Given the description of an element on the screen output the (x, y) to click on. 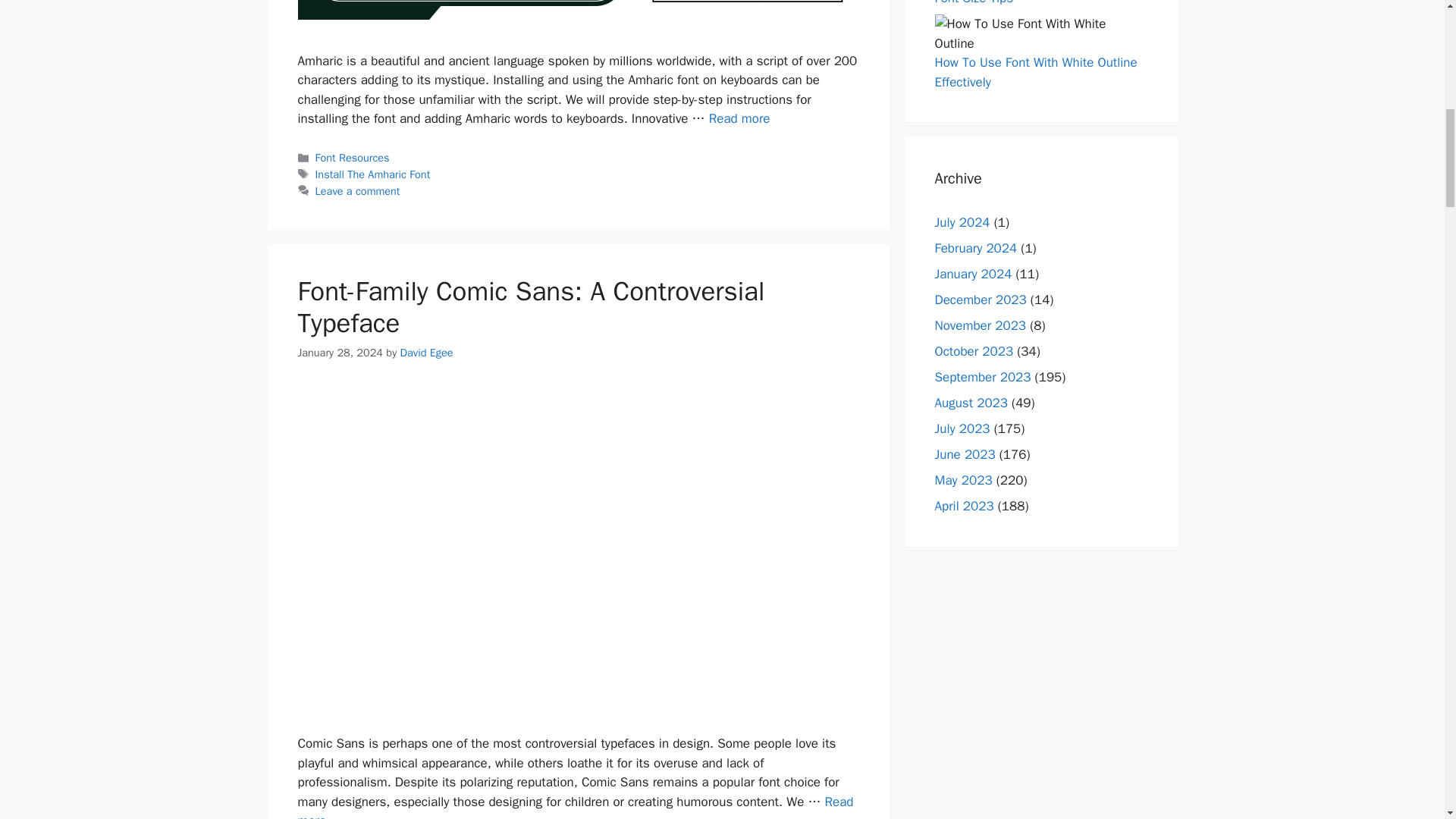
Leave a comment (357, 191)
Font Resources (352, 157)
Install The Amharic Font (372, 173)
How To Install The Amharic Font (739, 118)
Font-Family Comic Sans: A Controversial Typeface (575, 806)
View all posts by David Egee (426, 352)
David Egee (426, 352)
Read more (575, 806)
Font-Family Comic Sans: A Controversial Typeface (530, 306)
Read more (739, 118)
